Given the description of an element on the screen output the (x, y) to click on. 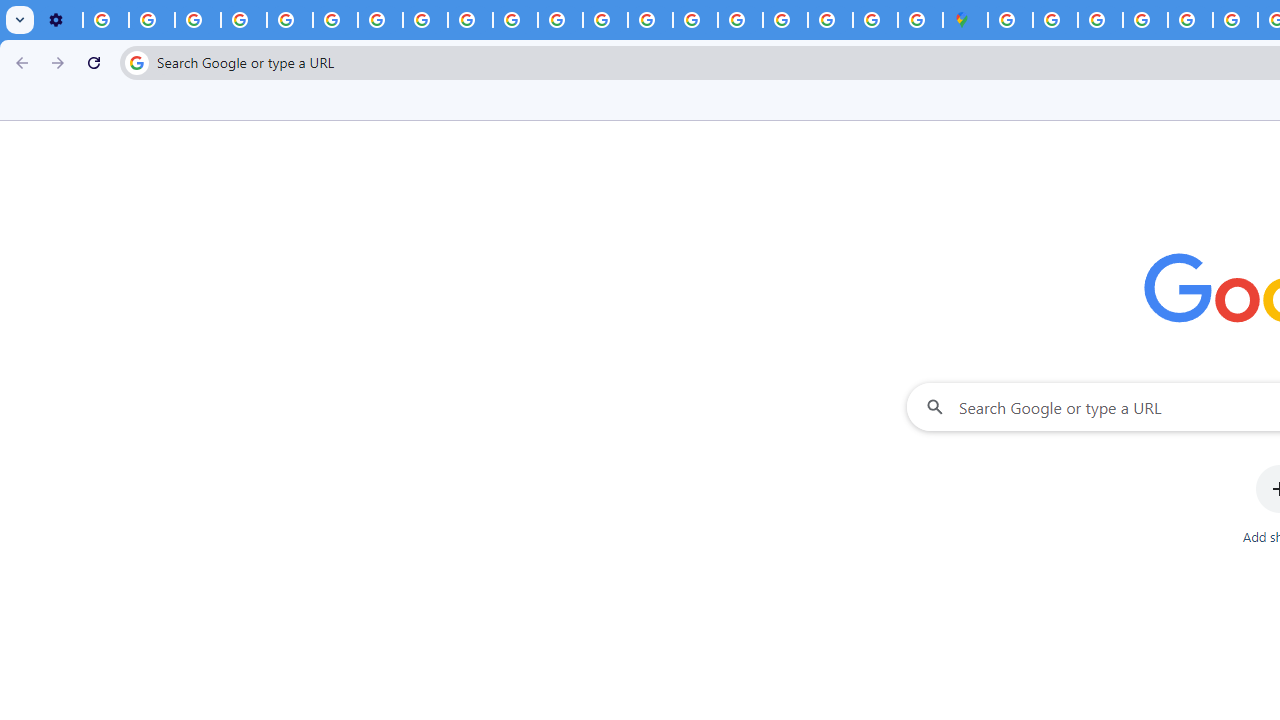
https://scholar.google.com/ (559, 20)
Sign in - Google Accounts (1055, 20)
Privacy Help Center - Policies Help (605, 20)
Privacy Checkup (470, 20)
Privacy Help Center - Policies Help (290, 20)
Google Maps (965, 20)
YouTube (335, 20)
Terms and Conditions (1190, 20)
